Given the description of an element on the screen output the (x, y) to click on. 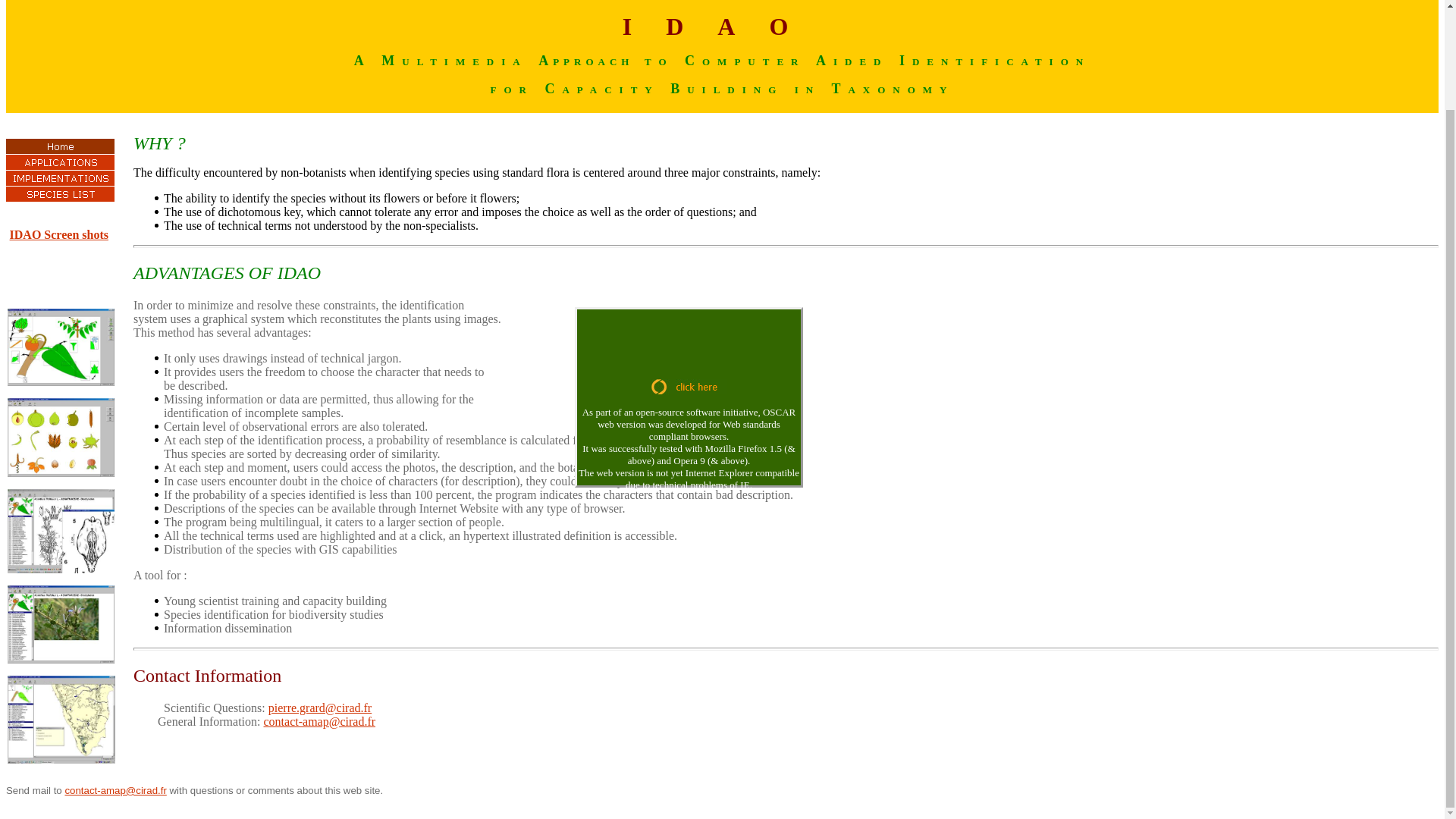
IDAO Screen shots (58, 234)
